Given the description of an element on the screen output the (x, y) to click on. 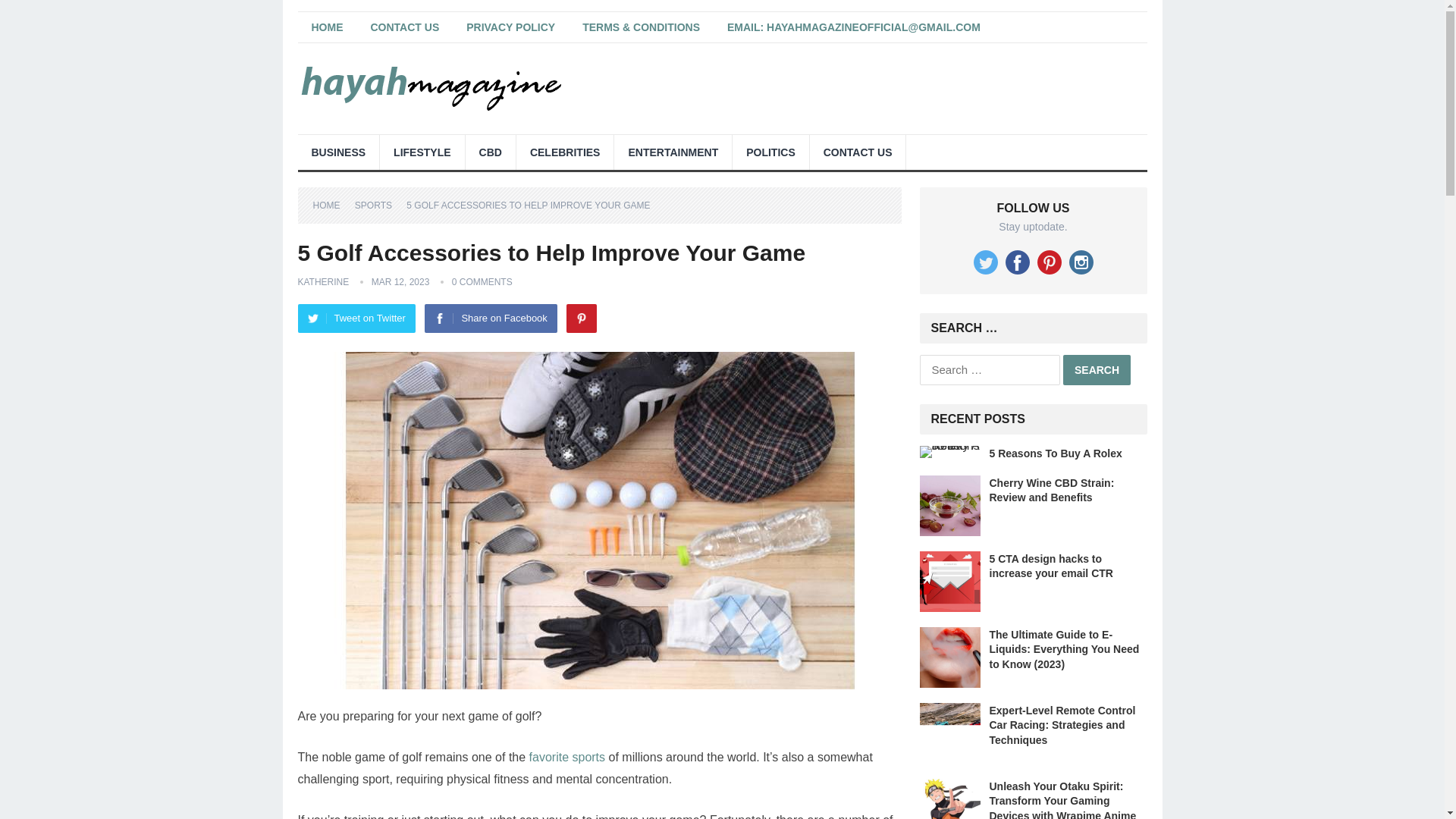
Search (1096, 369)
PRIVACY POLICY (510, 27)
CBD (490, 152)
BUSINESS (337, 152)
LIFESTYLE (422, 152)
HOME (326, 27)
POLITICS (770, 152)
CELEBRITIES (565, 152)
Search (1096, 369)
CONTACT US (857, 152)
Posts by Katherine (323, 281)
View all posts in Sports (379, 204)
CONTACT US (404, 27)
ENTERTAINMENT (673, 152)
